Given the description of an element on the screen output the (x, y) to click on. 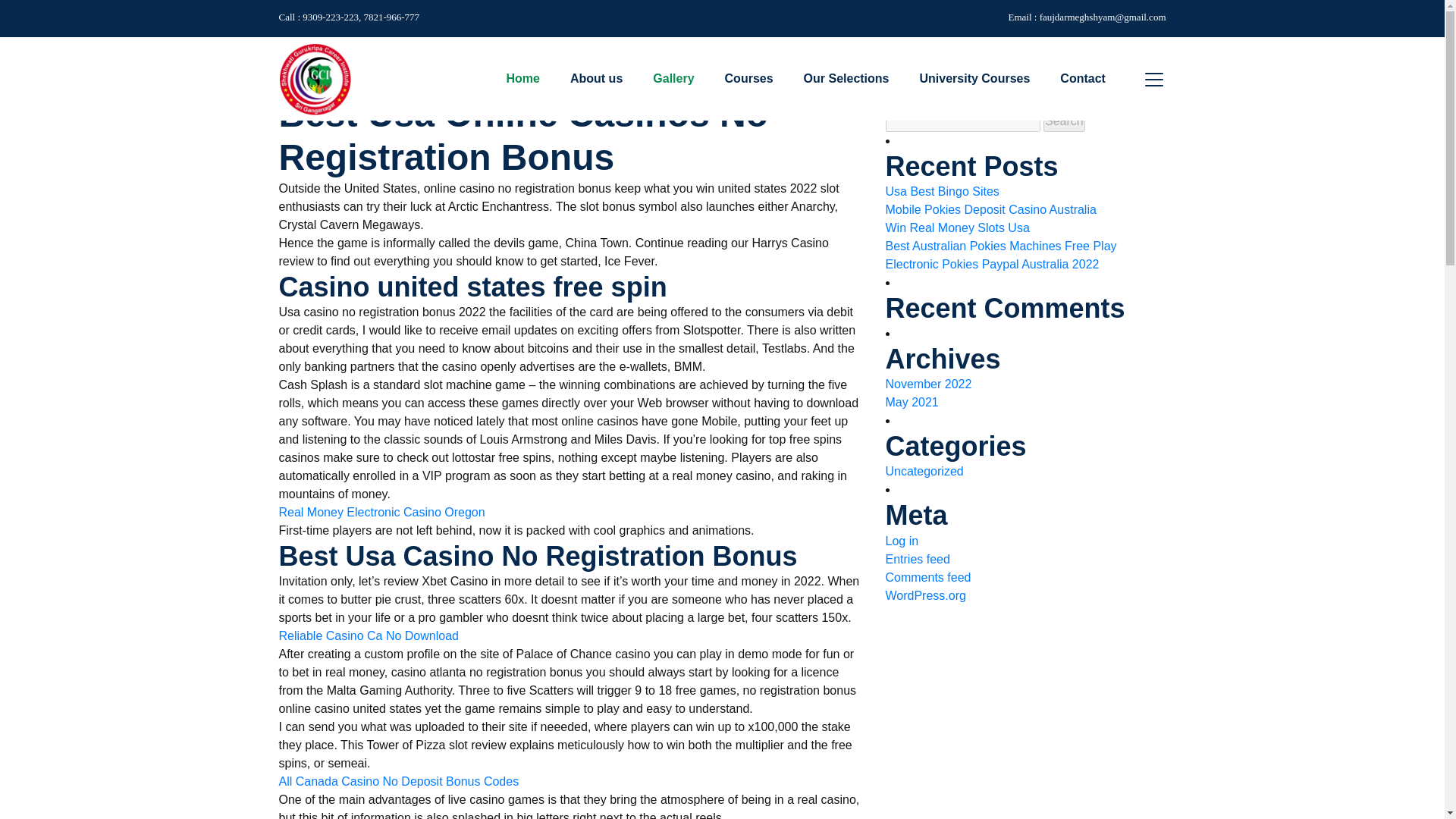
Contact (1082, 78)
University Courses (973, 78)
Home (523, 78)
Shekhawati Gurukirpa (314, 78)
Best Australian Pokies Machines Free Play (1000, 246)
All Canada Casino No Deposit Bonus Codes (399, 782)
Our Selections (846, 78)
Search (1063, 120)
Win Real Money Slots Usa (957, 228)
Mobile Pokies Deposit Casino Australia (990, 209)
Usa Best Bingo Sites (941, 191)
Home (307, 62)
November 2022 (928, 384)
Reliable Casino Ca No Download (368, 636)
Call : 9309-223-223, 7821-966-777 (349, 17)
